Given the description of an element on the screen output the (x, y) to click on. 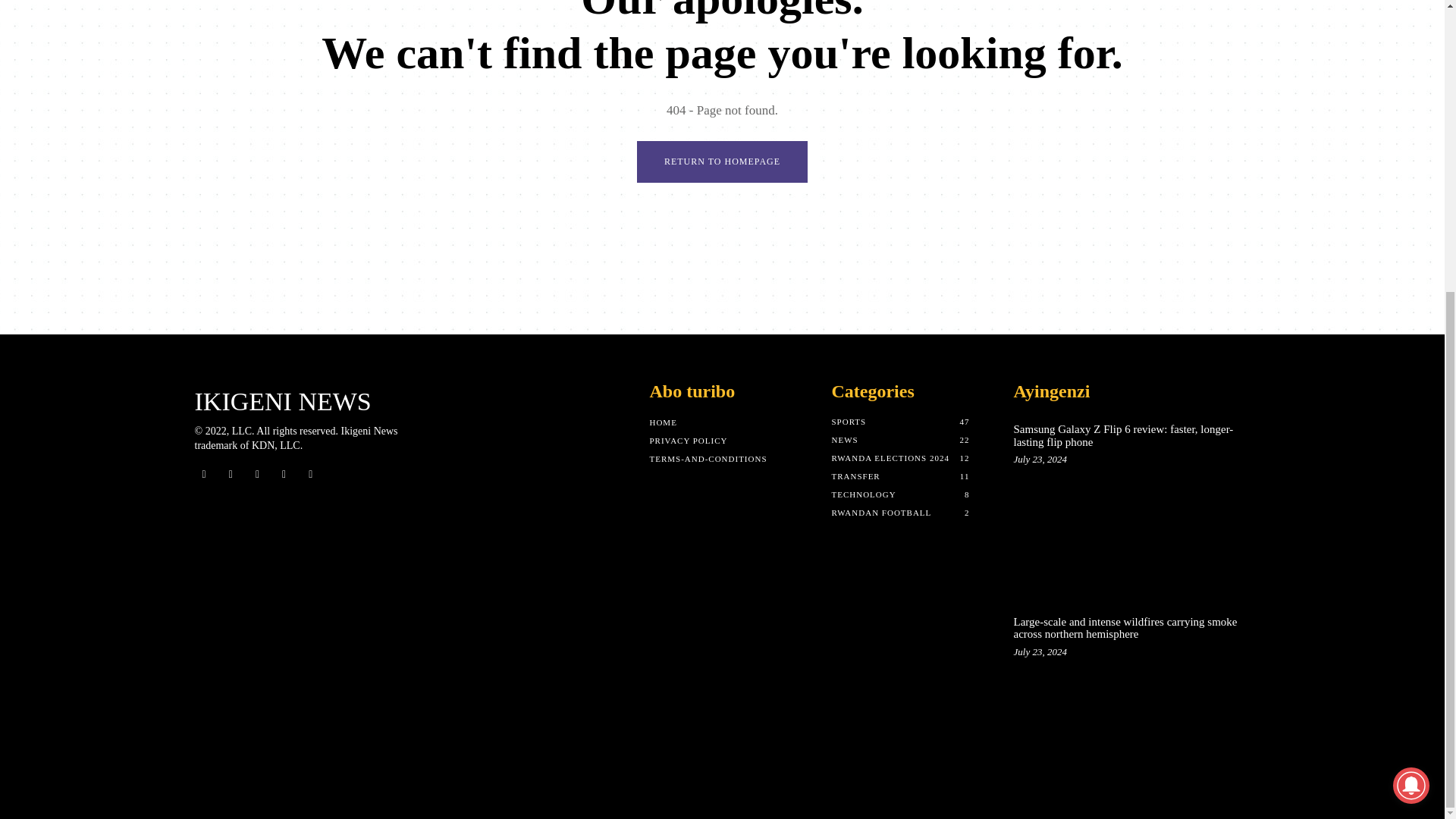
VKontakte (284, 474)
Return to Homepage (722, 161)
Instagram (230, 474)
Facebook (202, 474)
Youtube (310, 474)
Twitter (256, 474)
